Given the description of an element on the screen output the (x, y) to click on. 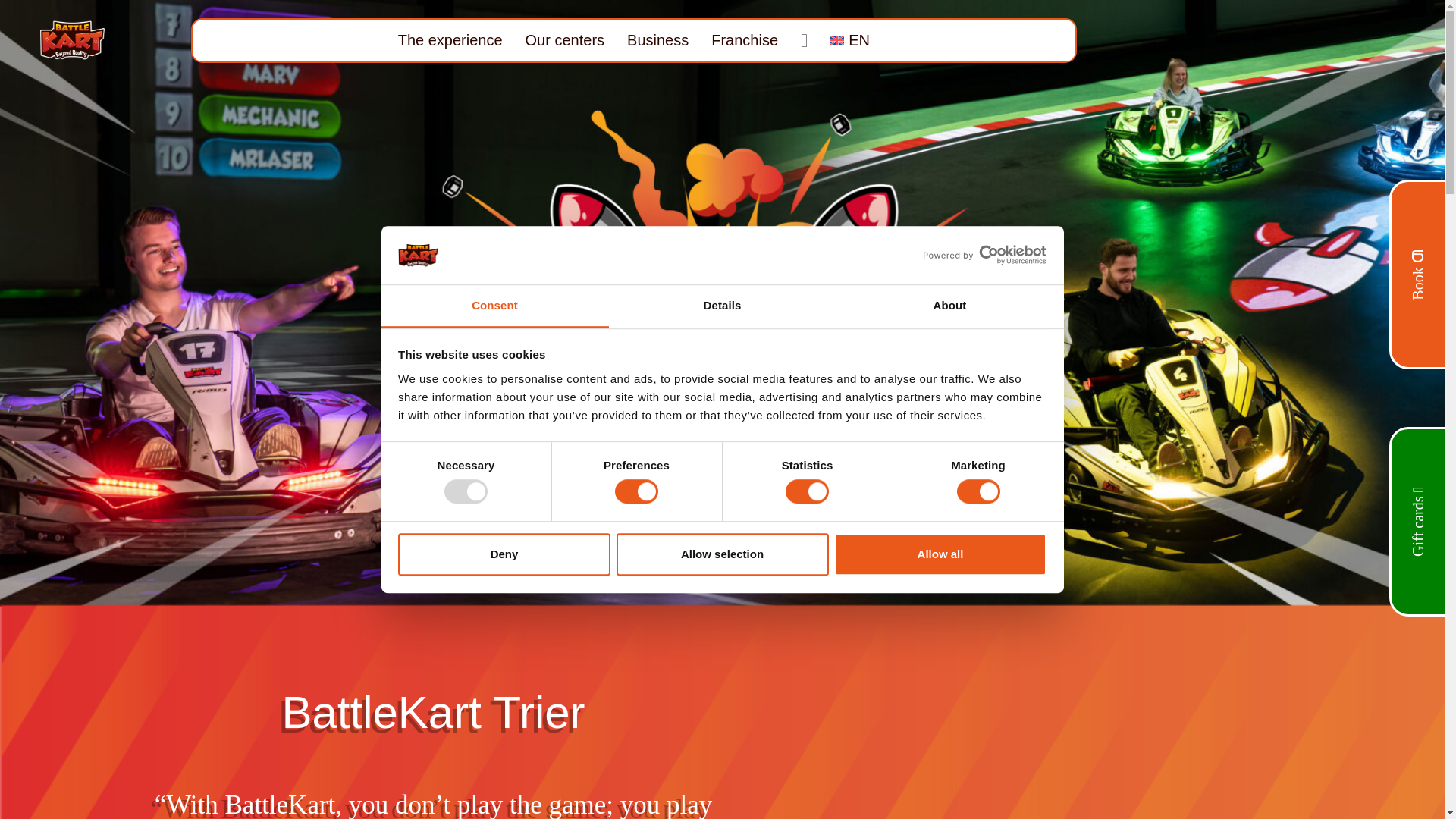
Consent (494, 306)
Details (721, 306)
About (948, 306)
